Given the description of an element on the screen output the (x, y) to click on. 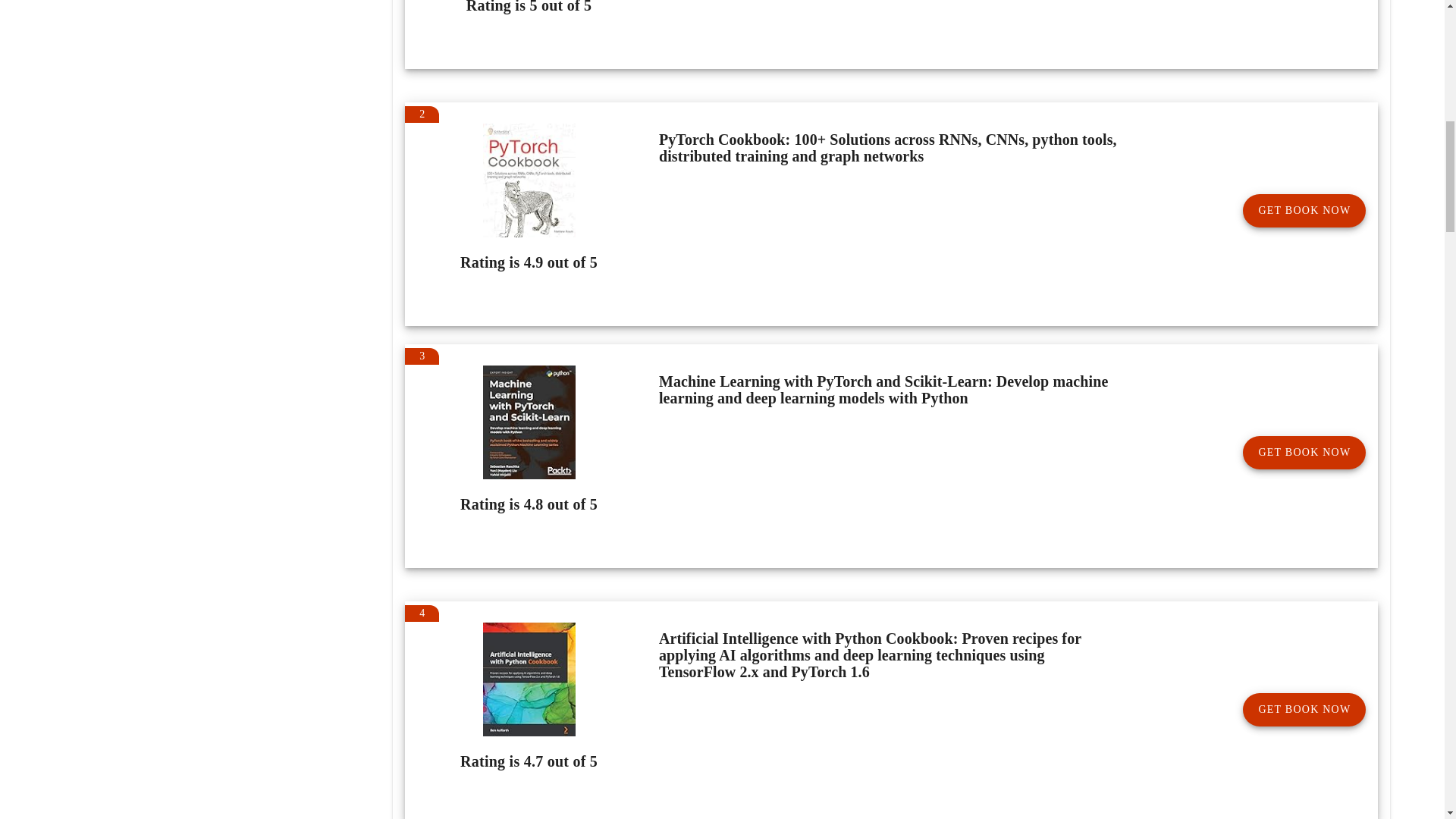
GET BOOK NOW (1304, 452)
GET BOOK NOW (1304, 709)
GET BOOK NOW (1304, 210)
